Given the description of an element on the screen output the (x, y) to click on. 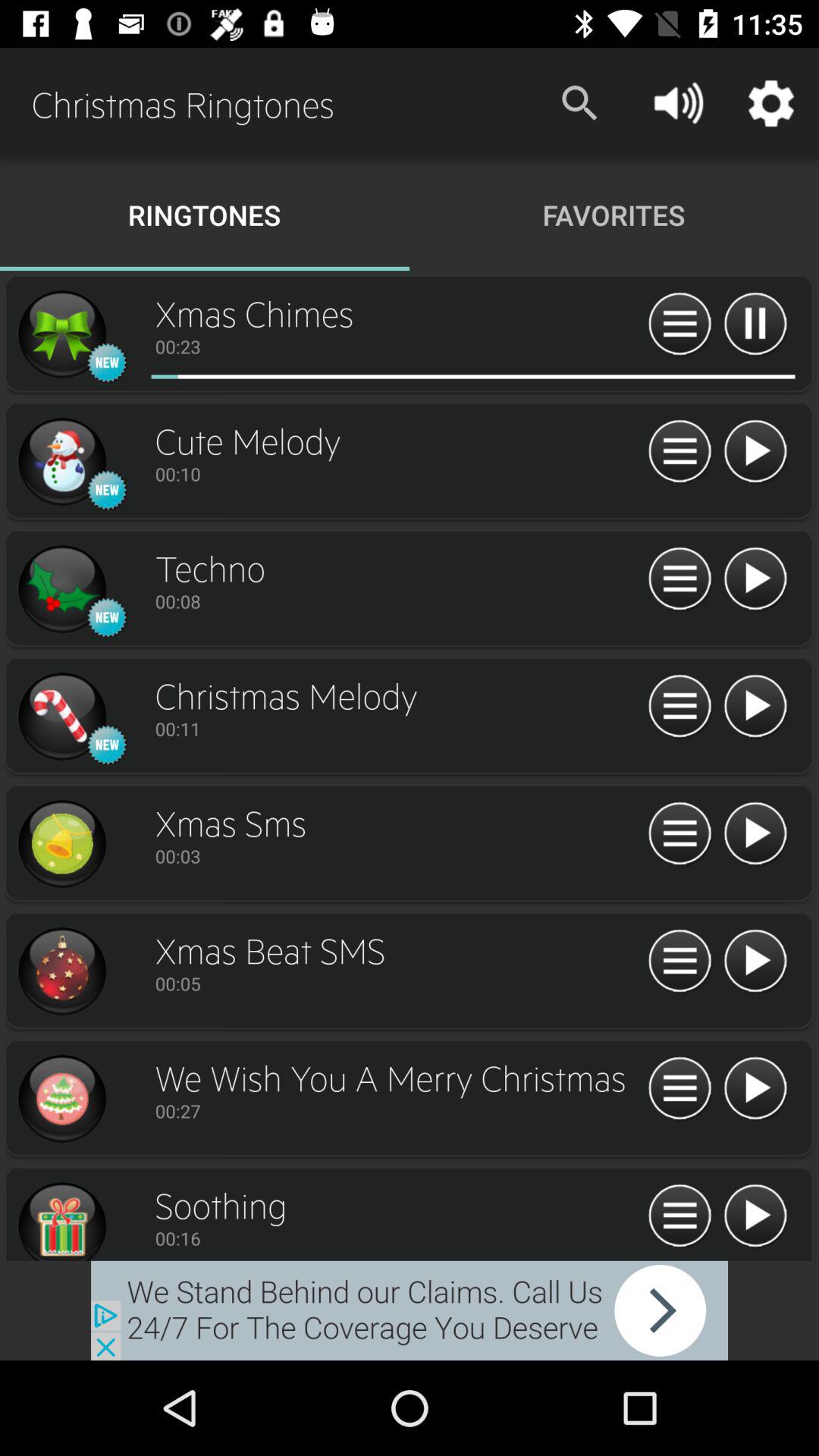
go to setting (679, 834)
